Given the description of an element on the screen output the (x, y) to click on. 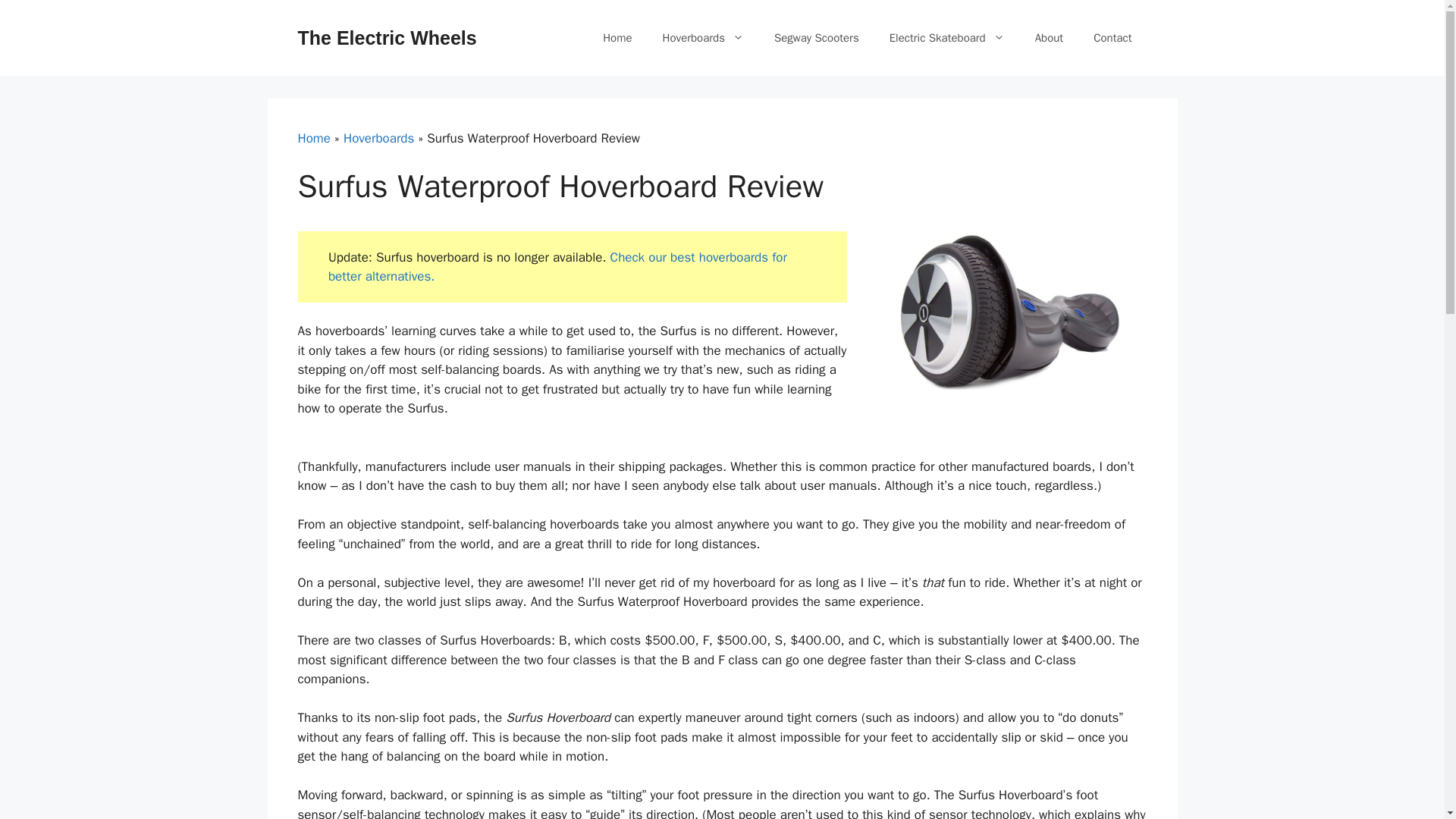
Segway Scooters (816, 37)
Hoverboards (702, 37)
Hoverboards (378, 138)
About (1049, 37)
Contact (1112, 37)
Home (313, 138)
Electric Skateboard (947, 37)
Home (617, 37)
The Electric Wheels (386, 37)
Check our best hoverboards for better alternatives. (558, 267)
